Given the description of an element on the screen output the (x, y) to click on. 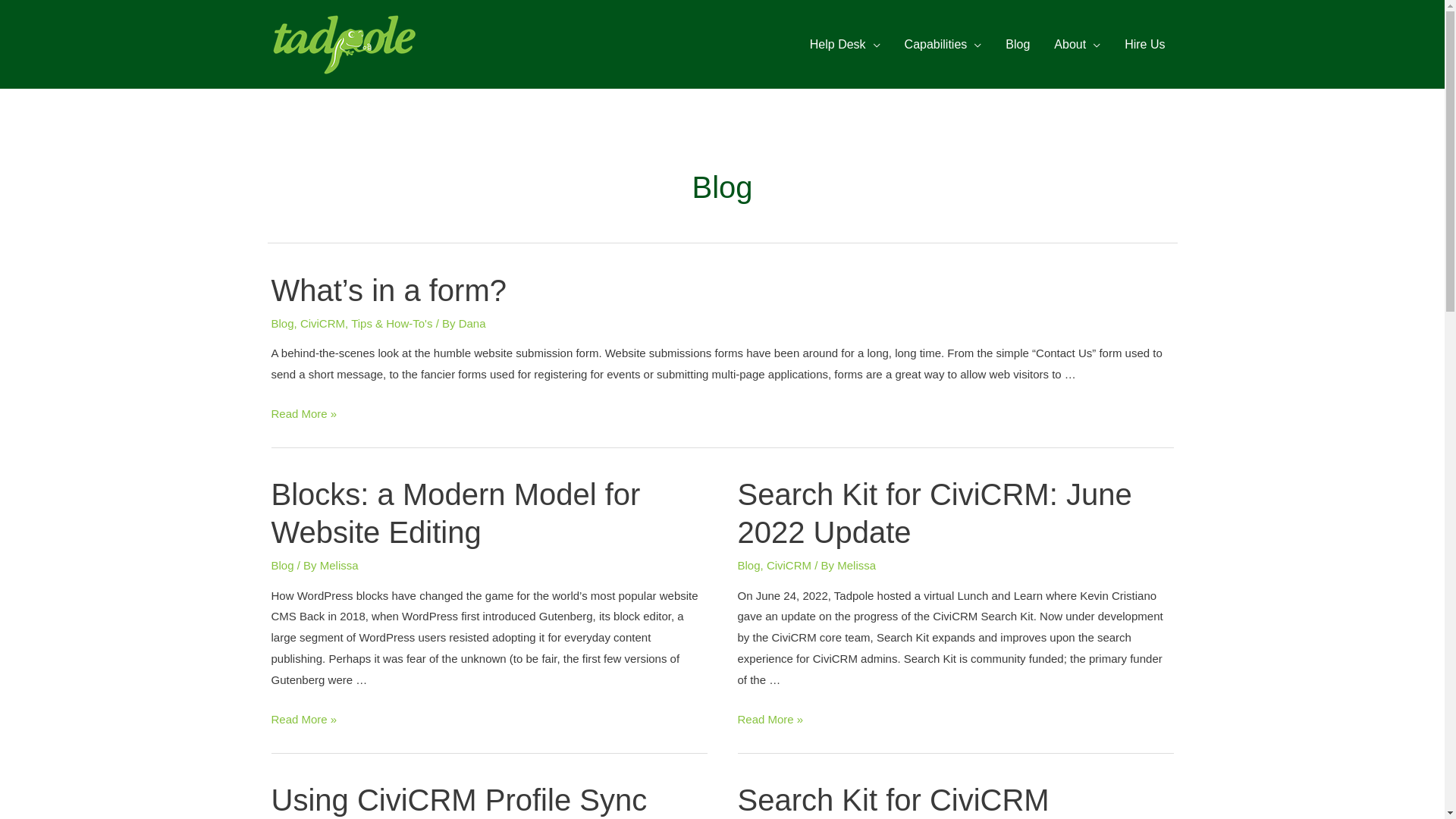
Search Kit for CiviCRM Element type: text (892, 799)
Blog Element type: text (282, 322)
Blog Element type: text (282, 564)
Blog Element type: text (1017, 44)
Capabilities Element type: text (943, 44)
Dana Element type: text (472, 322)
Tips & How-To's Element type: text (391, 322)
Blog Element type: text (748, 564)
Blocks: a Modern Model for Website Editing Element type: text (455, 512)
Melissa Element type: text (339, 564)
Search Kit for CiviCRM: June 2022 Update Element type: text (934, 512)
Help Desk Element type: text (844, 44)
About Element type: text (1076, 44)
Melissa Element type: text (856, 564)
Hire Us Element type: text (1144, 44)
CiviCRM Element type: text (788, 564)
CiviCRM Element type: text (322, 322)
